Given the description of an element on the screen output the (x, y) to click on. 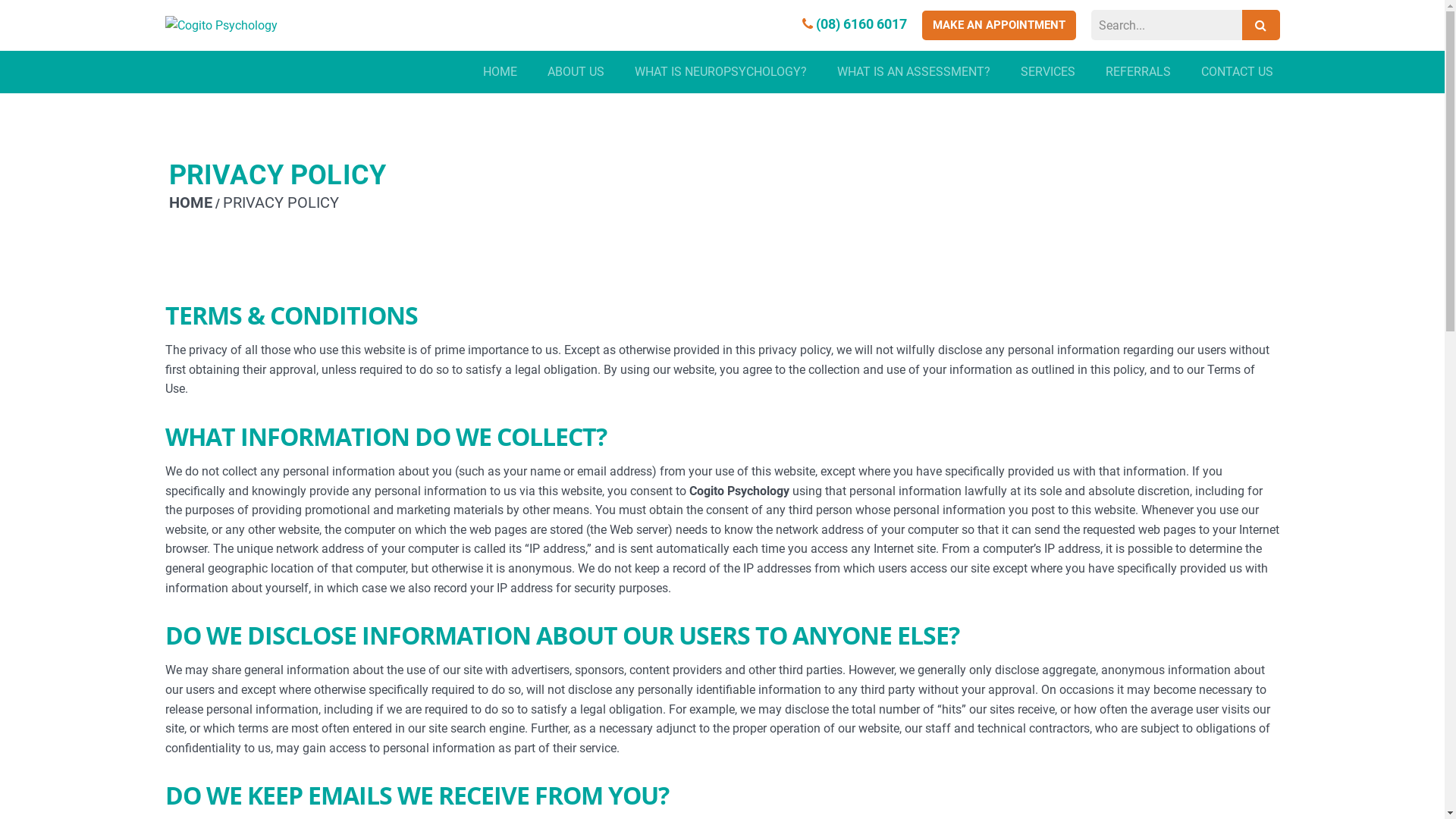
HOME Element type: text (499, 72)
ABOUT US Element type: text (575, 72)
SERVICES Element type: text (1047, 72)
HOME Element type: text (189, 202)
WHAT IS AN ASSESSMENT? Element type: text (913, 72)
REFERRALS Element type: text (1137, 72)
MAKE AN APPOINTMENT Element type: text (999, 25)
WHAT IS NEUROPSYCHOLOGY? Element type: text (719, 72)
CONTACT US Element type: text (1237, 72)
Search Element type: text (1261, 24)
(08) 6160 6017 Element type: text (854, 24)
